Given the description of an element on the screen output the (x, y) to click on. 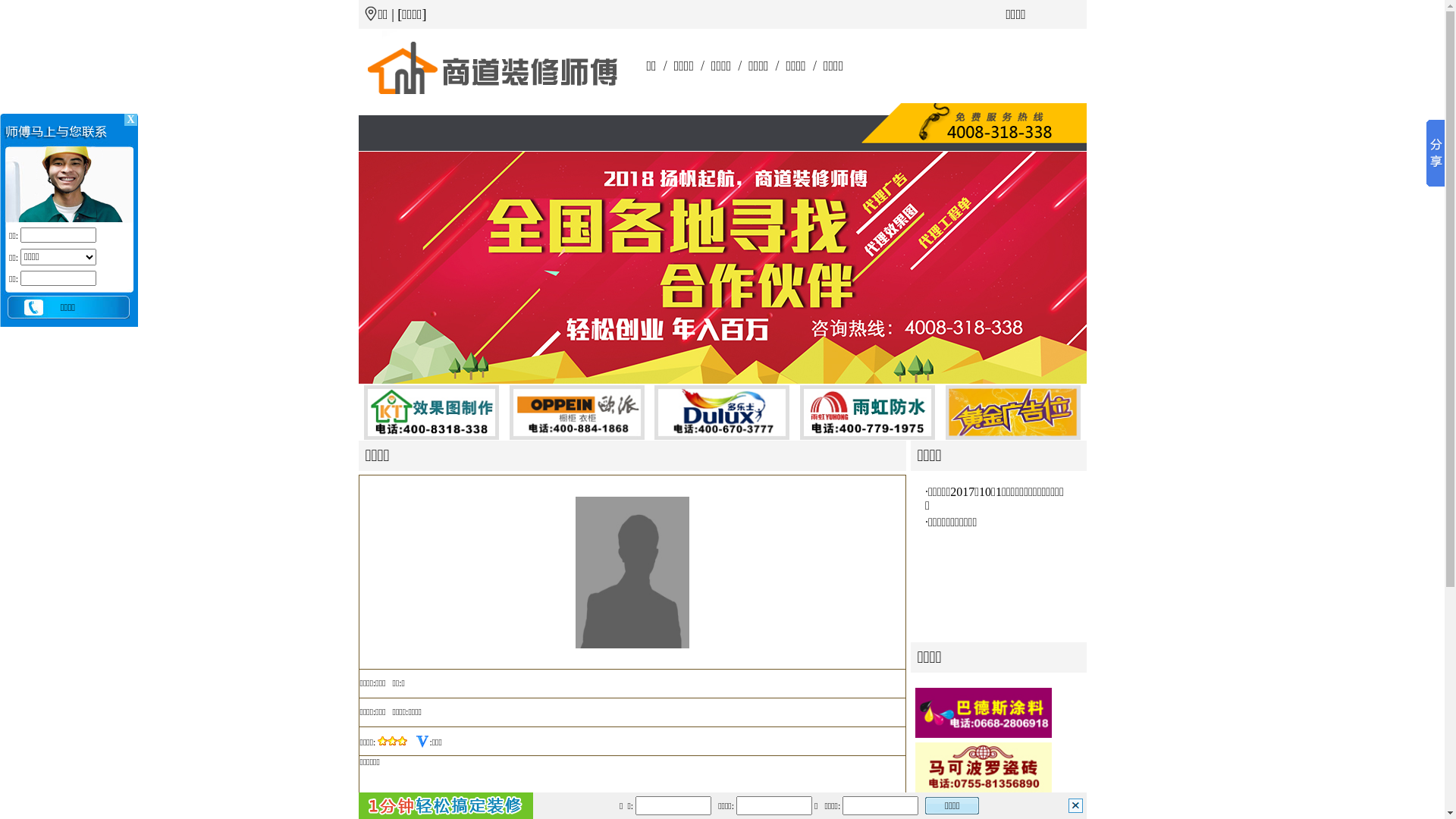
 X  Element type: text (130, 119)
